Given the description of an element on the screen output the (x, y) to click on. 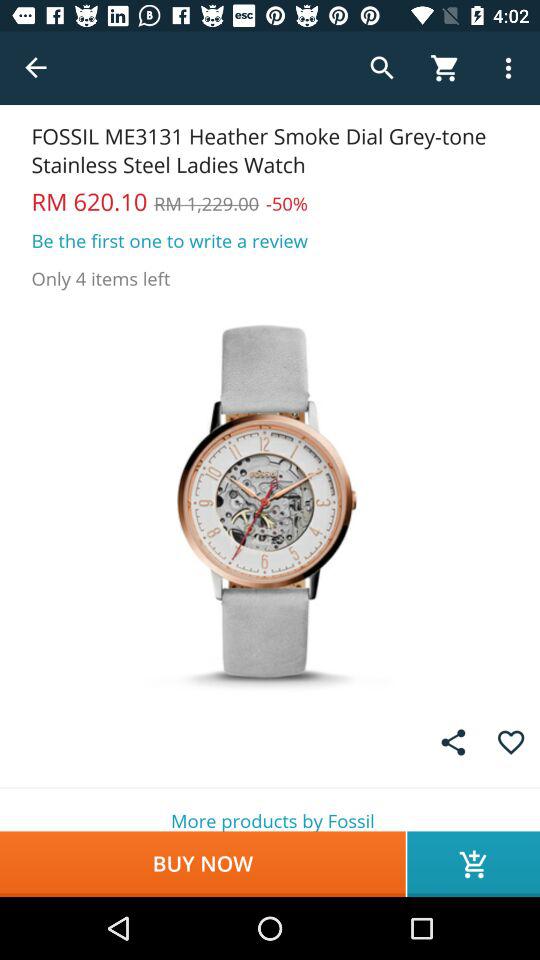
go back (36, 68)
